Given the description of an element on the screen output the (x, y) to click on. 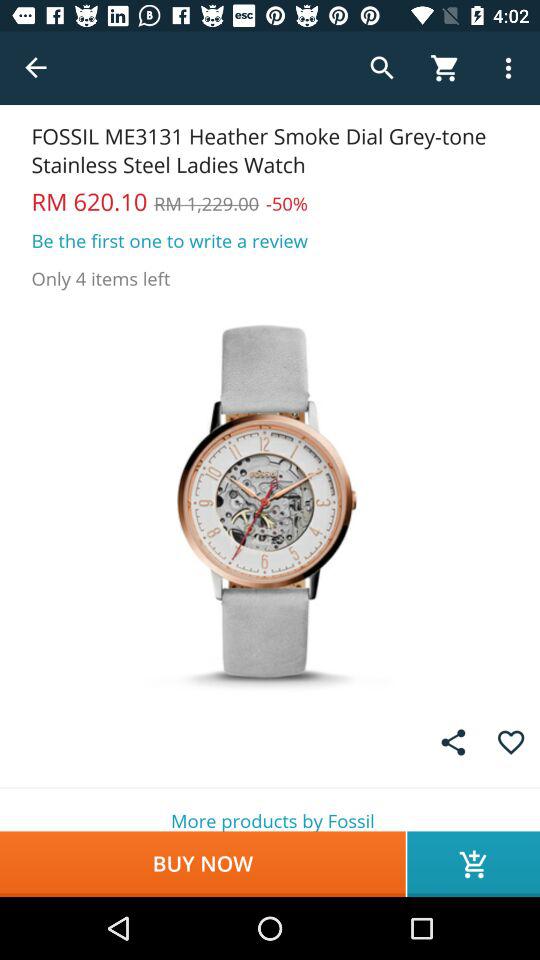
go back (36, 68)
